Given the description of an element on the screen output the (x, y) to click on. 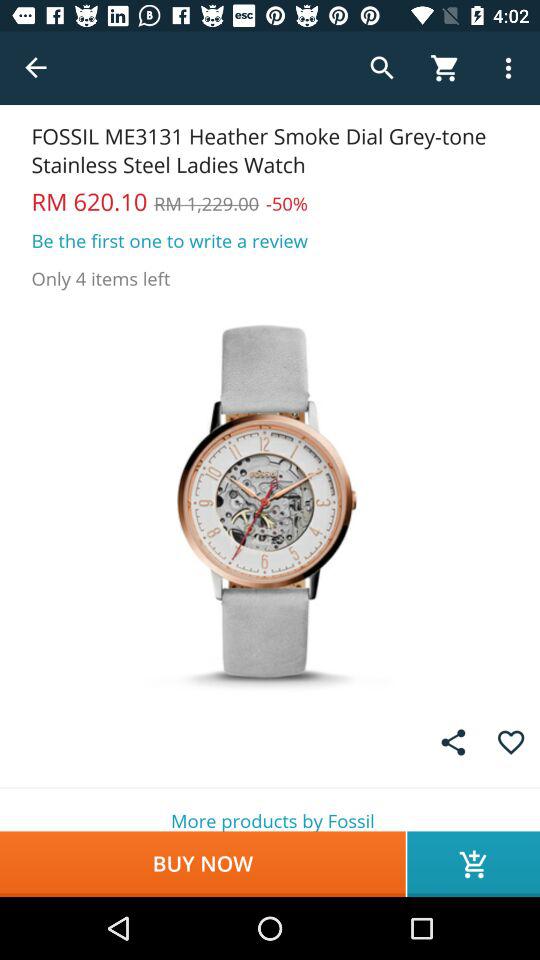
go back (36, 68)
